Given the description of an element on the screen output the (x, y) to click on. 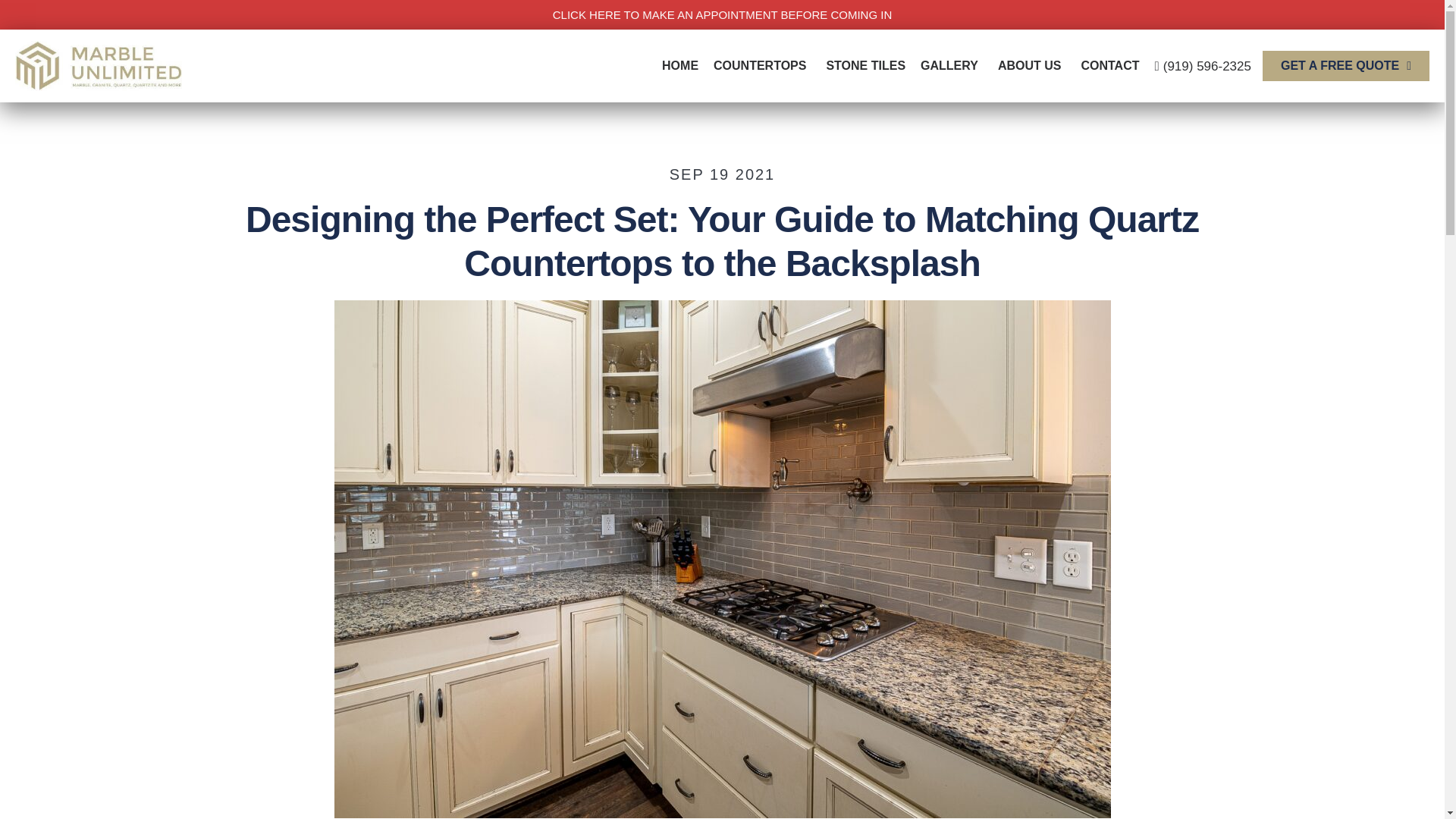
GALLERY (951, 65)
STONE TILES (865, 65)
ABOUT US (1032, 65)
HOME (679, 65)
COUNTERTOPS (762, 65)
